Given the description of an element on the screen output the (x, y) to click on. 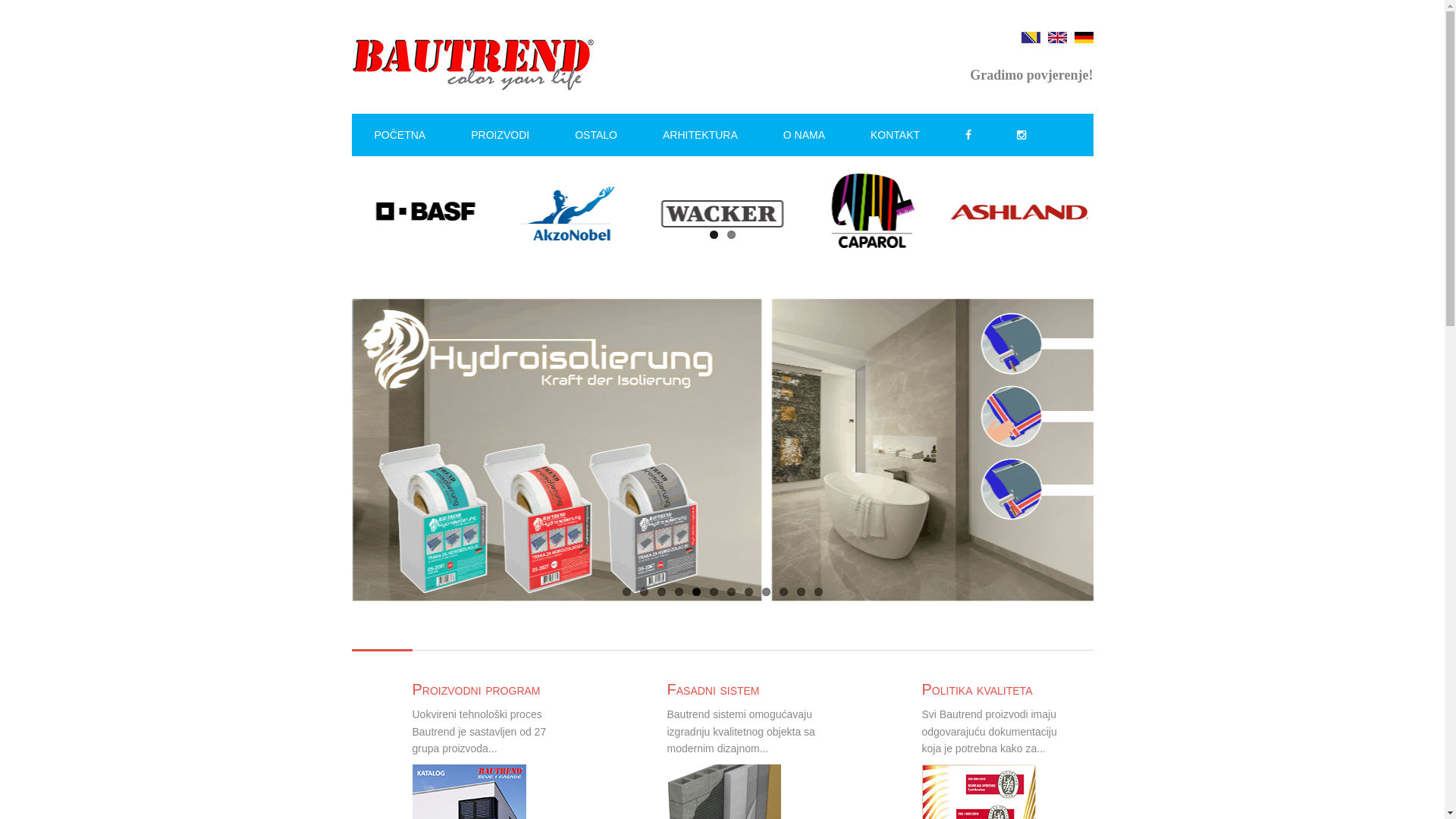
6 Element type: text (713, 591)
9 Element type: text (765, 591)
3 Element type: text (660, 591)
Fasadni sistem Element type: text (713, 688)
Proizvodni program Element type: text (476, 688)
OSTALO Element type: text (596, 134)
2 Element type: text (644, 591)
8 Element type: text (748, 591)
12 Element type: text (818, 591)
1 Element type: text (713, 234)
O NAMA Element type: text (803, 134)
ARHITEKTURA Element type: text (700, 134)
KONTAKT Element type: text (894, 134)
2 Element type: text (730, 234)
4 Element type: text (678, 591)
5 Element type: text (695, 591)
Politika kvaliteta Element type: text (977, 688)
7 Element type: text (730, 591)
1 Element type: text (625, 591)
PROIZVODI Element type: text (500, 134)
11 Element type: text (800, 591)
10 Element type: text (783, 591)
